Given the description of an element on the screen output the (x, y) to click on. 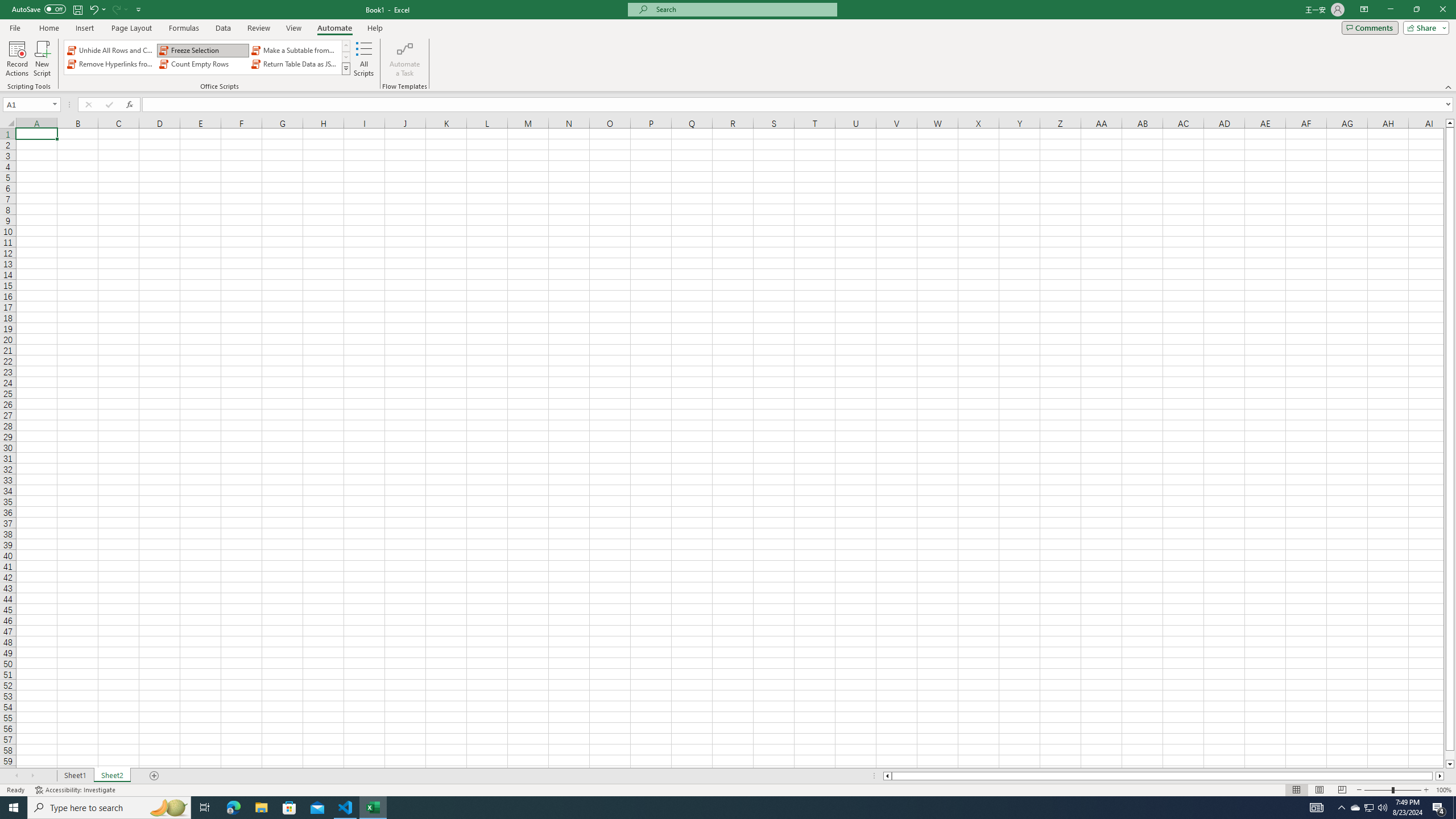
Formulas (184, 28)
Column left (886, 775)
Freeze Selection (202, 50)
Automate a Task (404, 58)
Column right (1440, 775)
Row Down (346, 56)
Make a Subtable from a Selection (294, 50)
Accessibility Checker Accessibility: Investigate (76, 790)
Restore Down (1416, 9)
Sheet1 (74, 775)
